Given the description of an element on the screen output the (x, y) to click on. 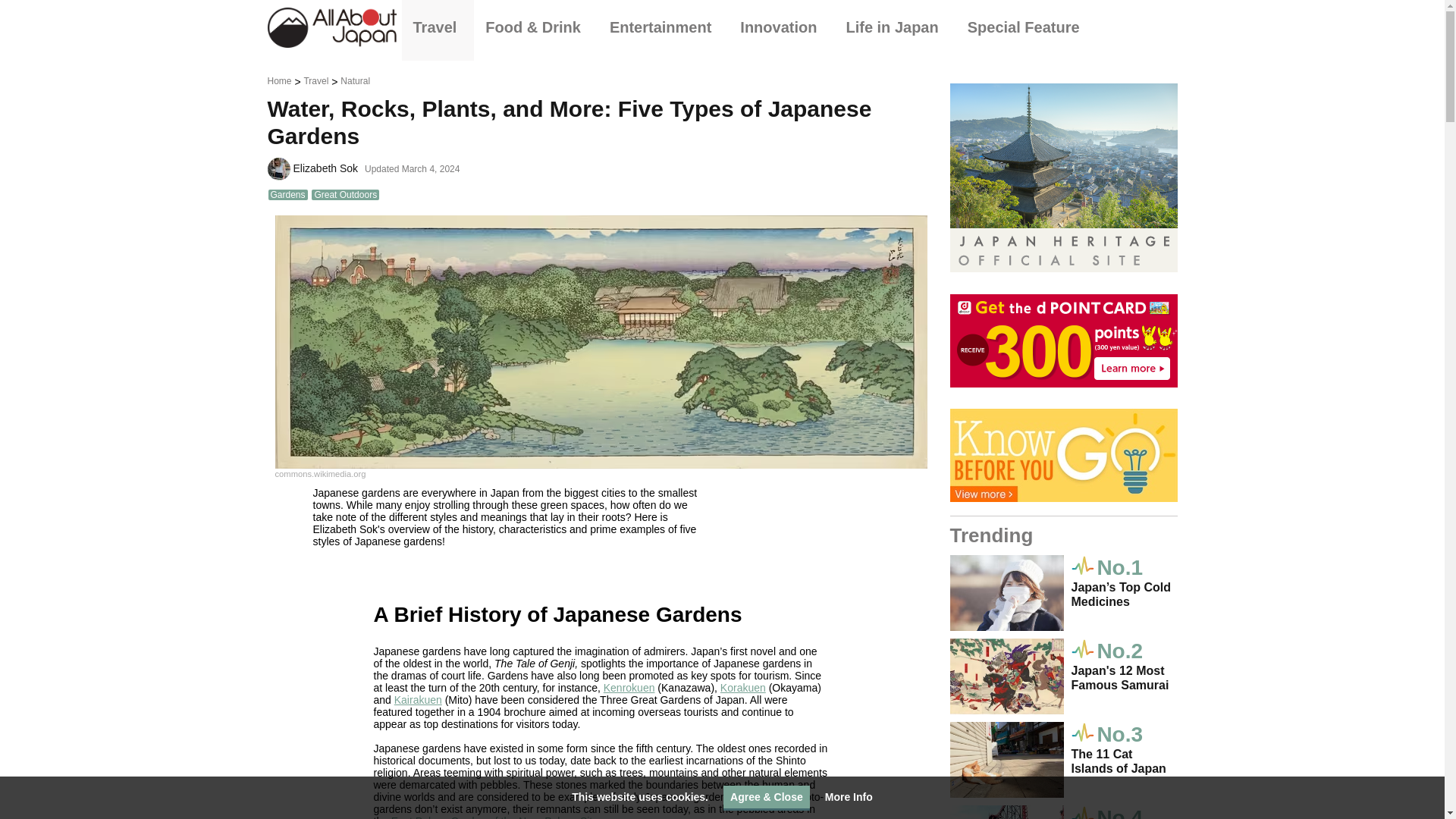
Entertainment (663, 27)
Innovation (781, 27)
Travel (437, 27)
